Given the description of an element on the screen output the (x, y) to click on. 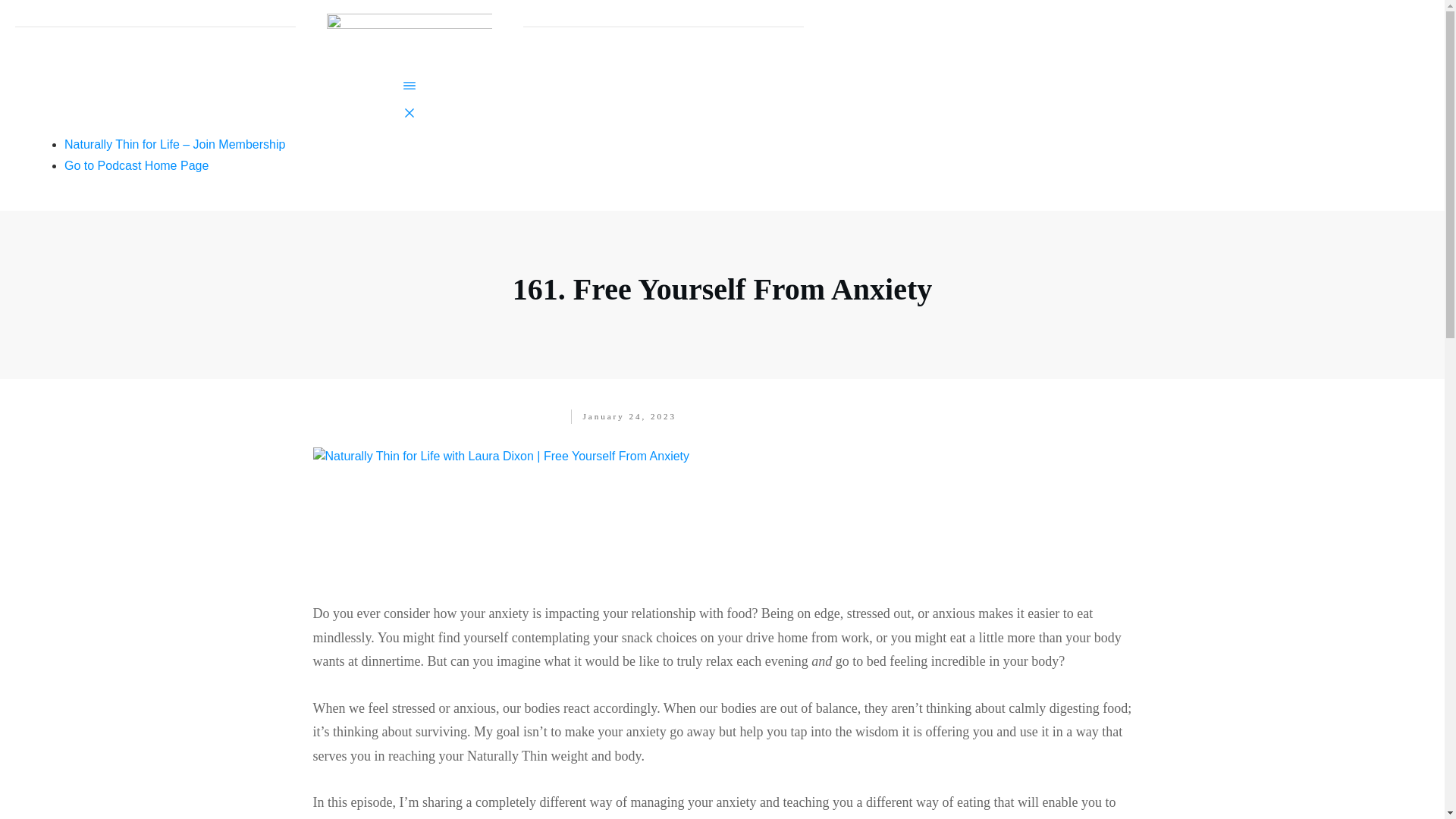
Embed Player (722, 536)
161. Free Yourself From Anxiety (722, 288)
Go to Podcast Home Page (136, 164)
161. Free Yourself From Anxiety (722, 288)
161. Free Yourself From Anxiety (722, 456)
